Given the description of an element on the screen output the (x, y) to click on. 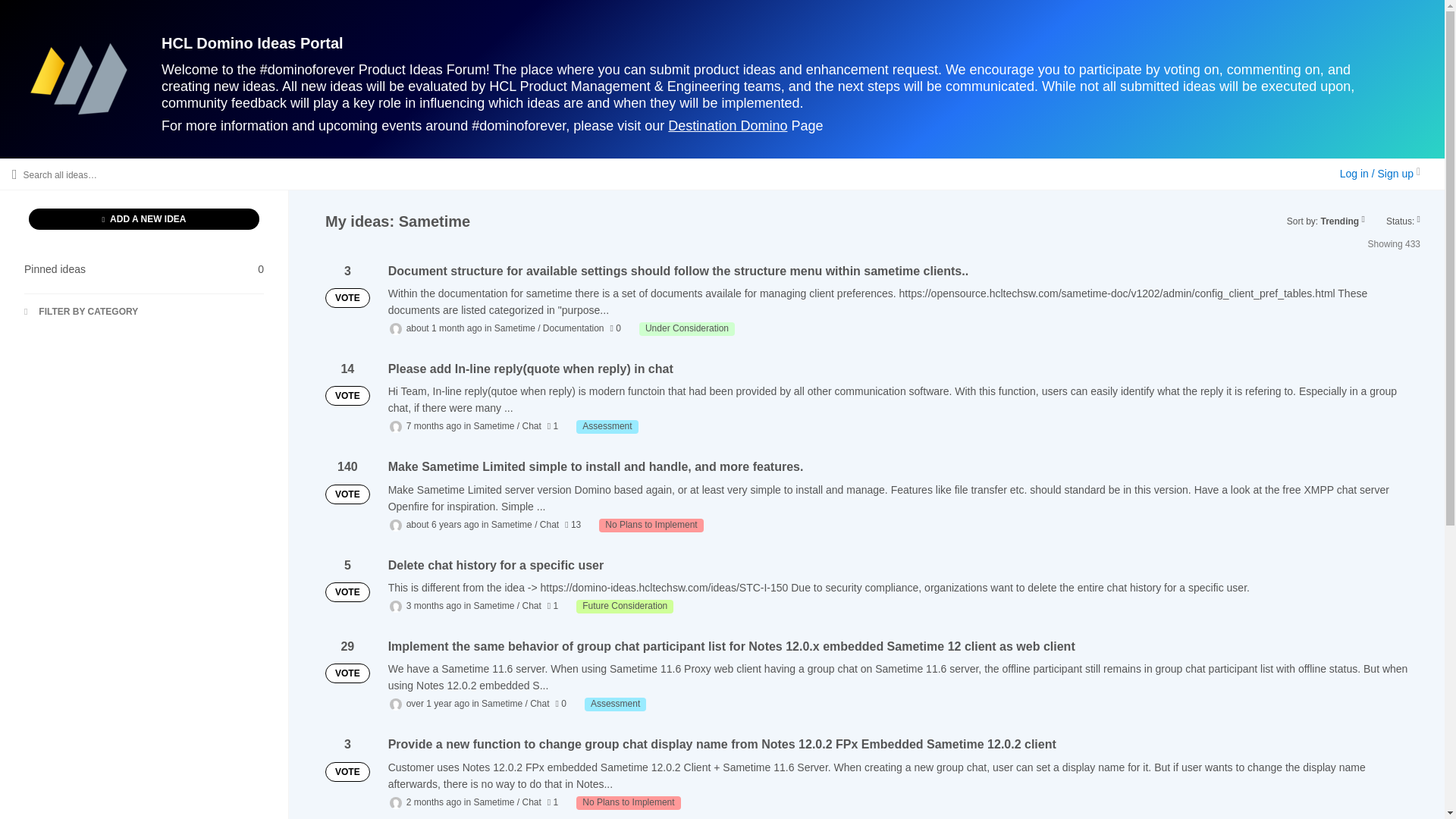
Destination Domino (727, 125)
Assessment (606, 427)
Future Consideration (624, 606)
No Plans to Implement (143, 269)
Under Consideration (627, 802)
No Plans to Implement (687, 328)
ADD A NEW IDEA (650, 525)
Assessment (144, 219)
FILTER BY CATEGORY (615, 704)
